Given the description of an element on the screen output the (x, y) to click on. 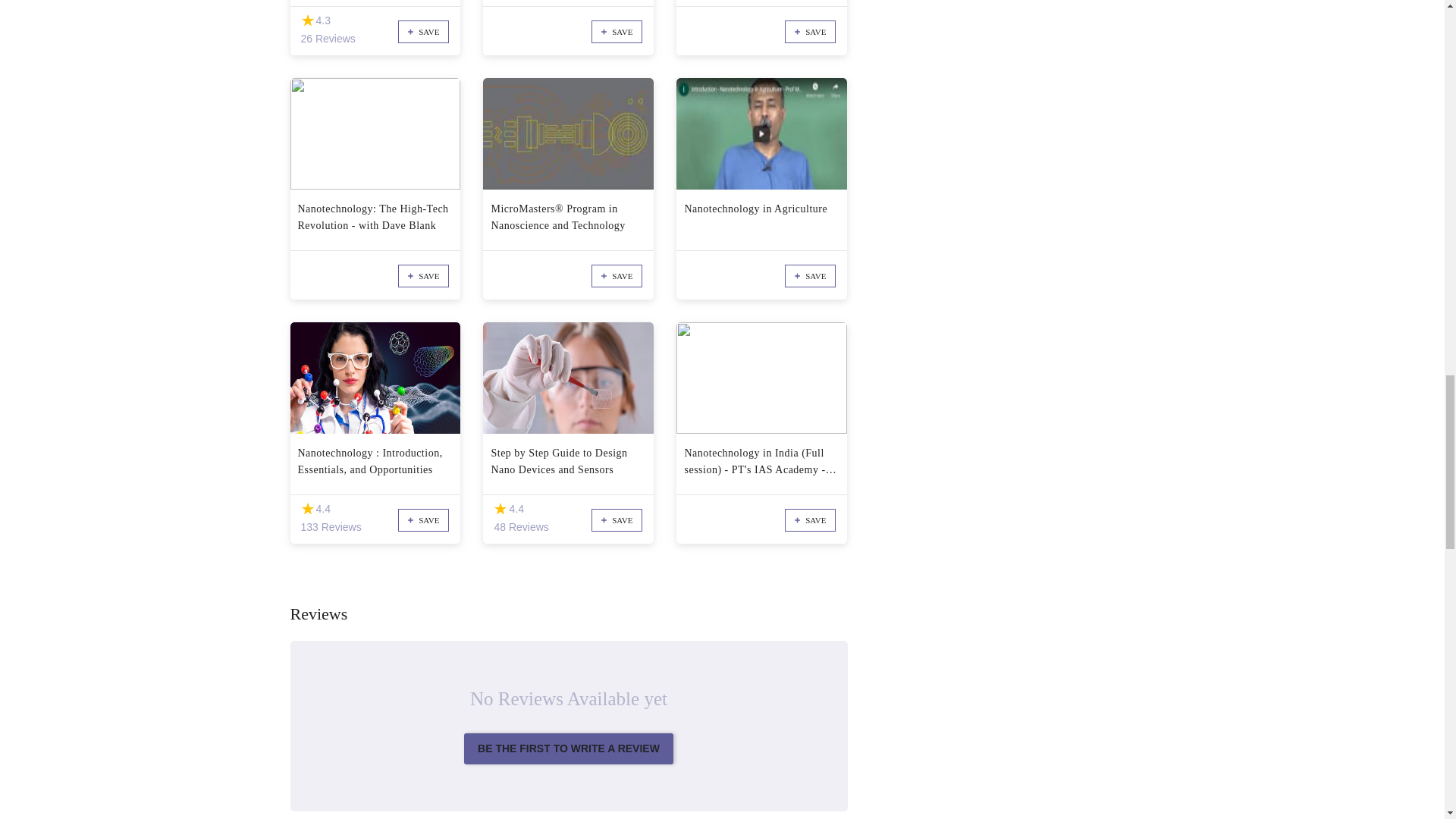
4.4 (499, 508)
4.4 (306, 508)
4.3 (306, 20)
